Given the description of an element on the screen output the (x, y) to click on. 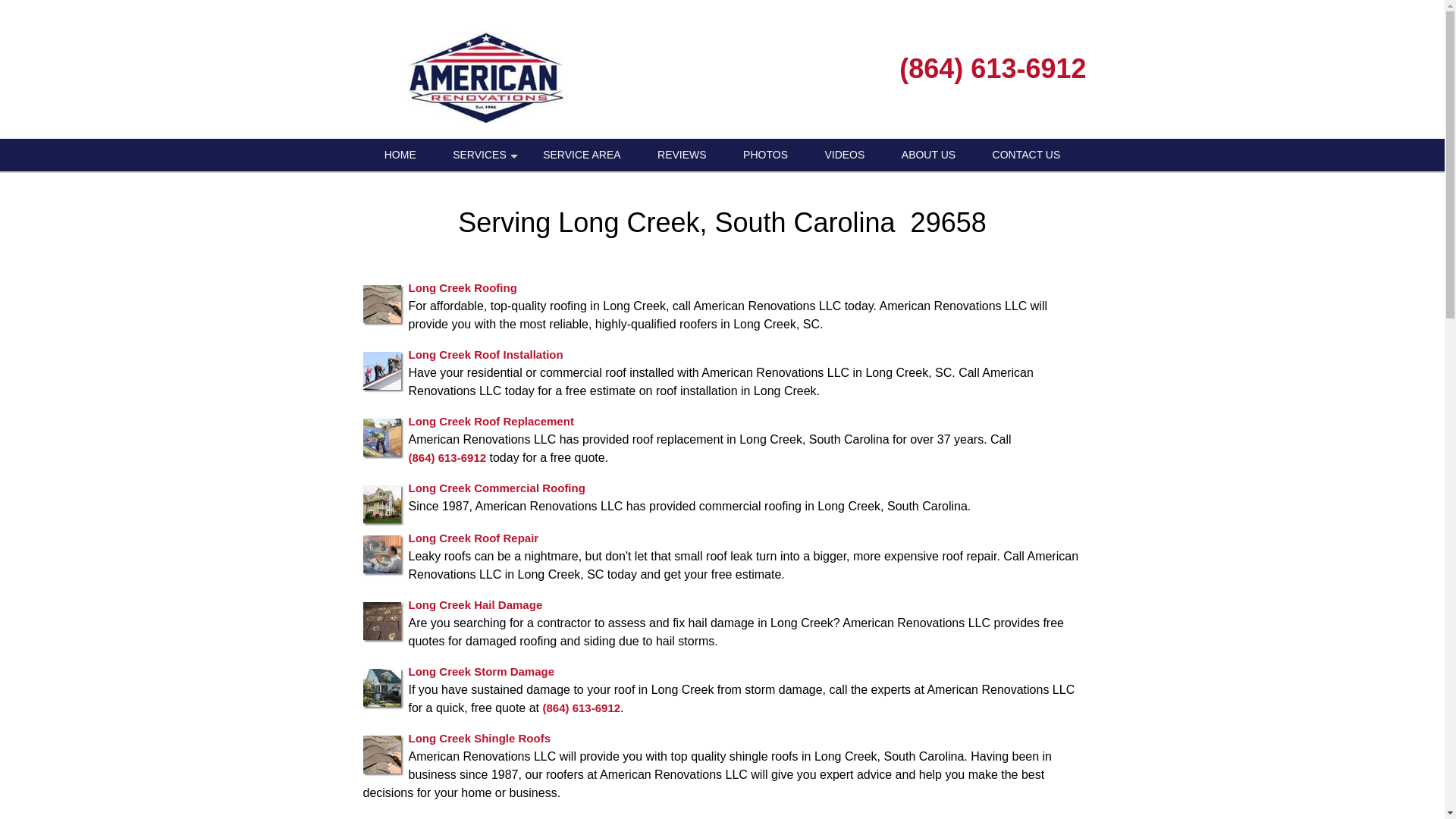
Long Creek Commercial Roofing (496, 486)
Long Creek Roofing (461, 286)
SERVICE AREA (581, 154)
PHOTOS (765, 154)
REVIEWS (681, 154)
VIDEOS (844, 154)
Long Creek Metal Roofs (472, 817)
Long Creek Roof Repair (472, 536)
HOME (400, 154)
ABOUT US (928, 154)
Long Creek Roof Installation (484, 353)
Long Creek Roof Replacement (490, 420)
Long Creek Shingle Roofs (478, 737)
Long Creek Hail Damage (474, 603)
CONTACT US (1026, 154)
